Given the description of an element on the screen output the (x, y) to click on. 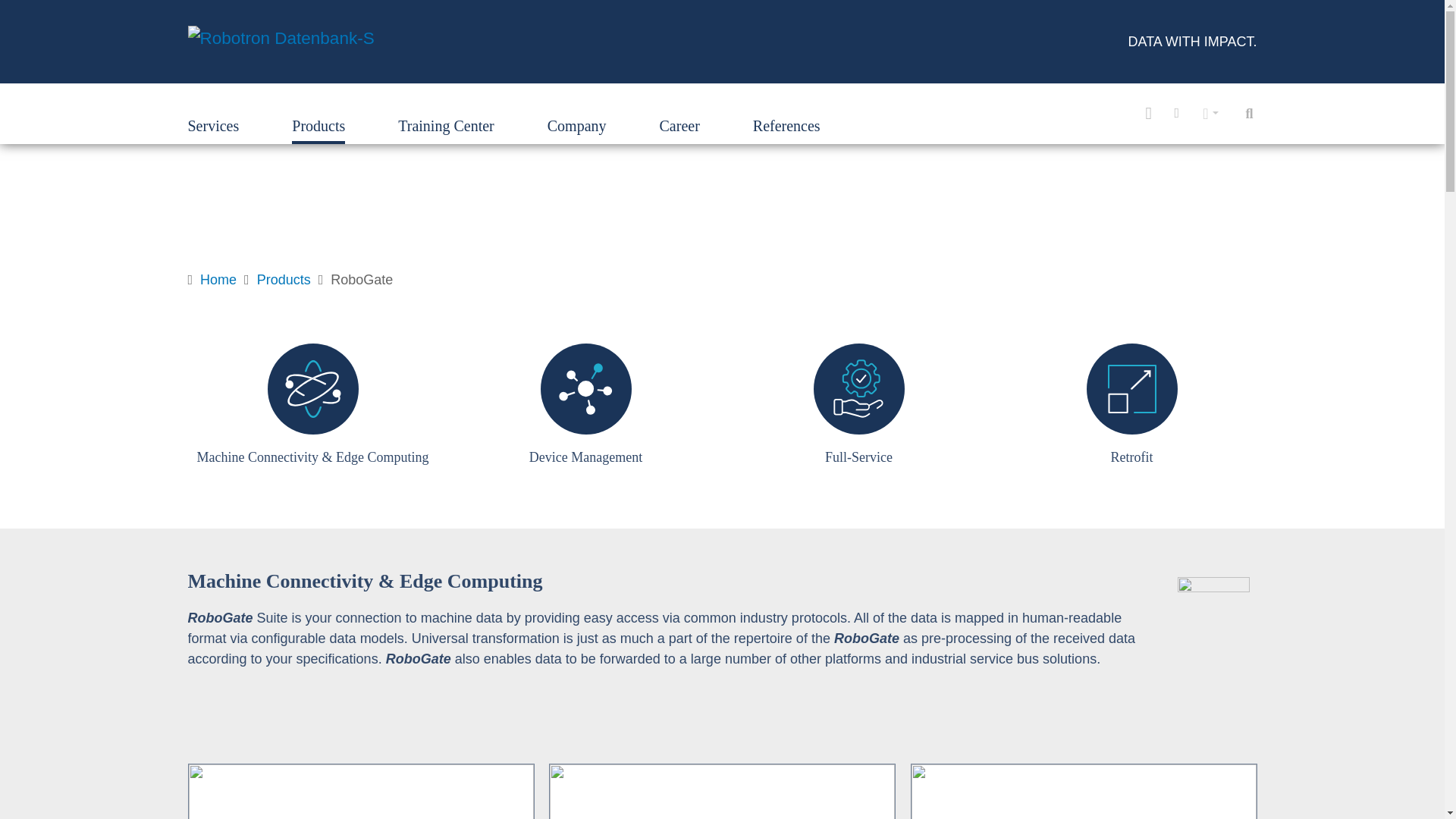
Contact form (1147, 113)
Robotron Datenbank-Software GmbH (280, 41)
